Given the description of an element on the screen output the (x, y) to click on. 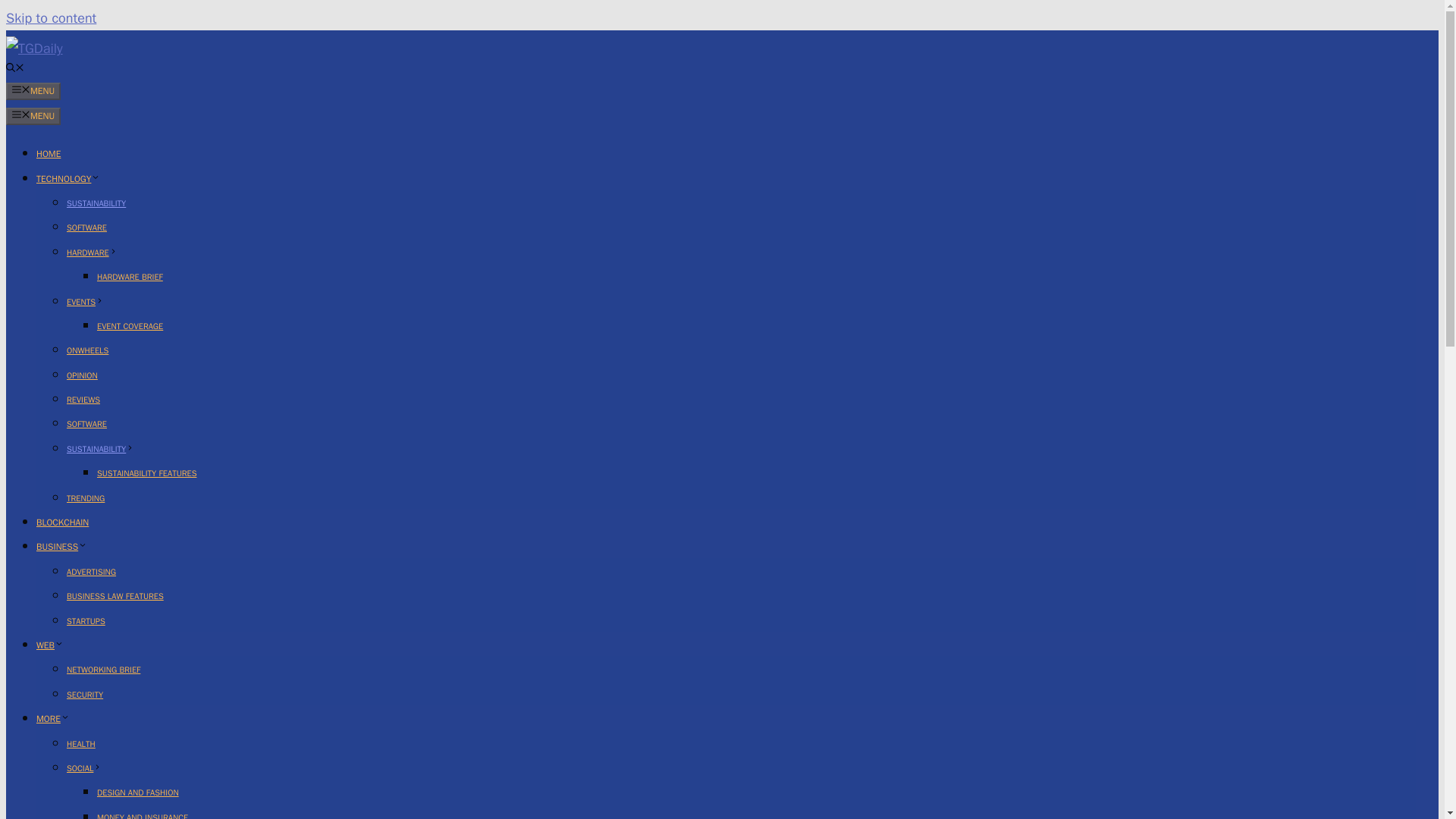
HARDWARE BRIEF (130, 276)
TRENDING (85, 498)
BUSINESS LAW FEATURES (114, 595)
SOFTWARE (86, 423)
WEB (50, 645)
NETWORKING BRIEF (102, 669)
SOCIAL (83, 767)
EVENTS (84, 300)
HARDWARE (91, 252)
HEALTH (81, 743)
